Given the description of an element on the screen output the (x, y) to click on. 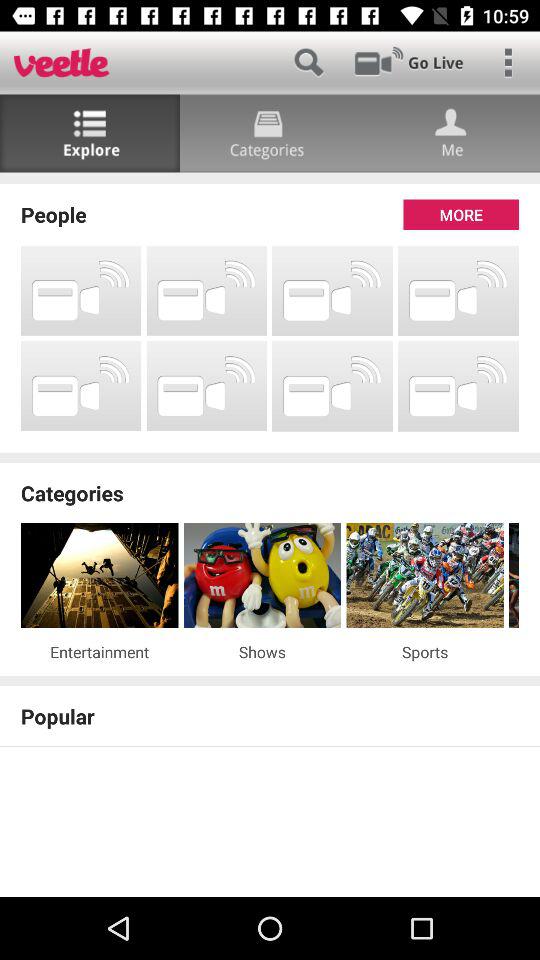
launch the icon next to the sports icon (262, 651)
